Given the description of an element on the screen output the (x, y) to click on. 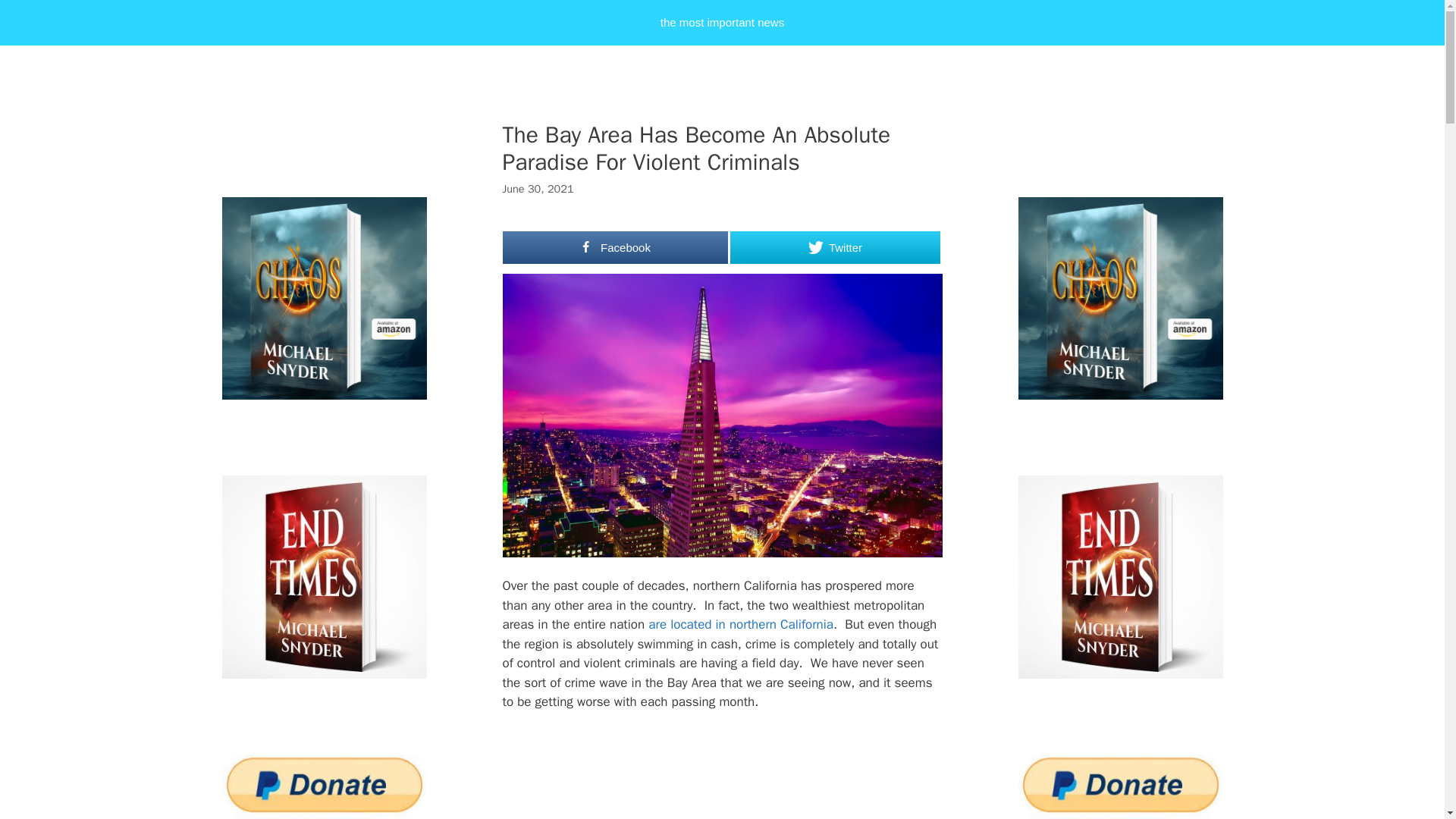
Advertisement (756, 775)
Twitter (834, 246)
Facebook (615, 246)
the most important news (722, 22)
Twitter (834, 246)
are located in northern California (739, 624)
Facebook (615, 246)
the most important news (722, 22)
are located in northern California (739, 624)
